Given the description of an element on the screen output the (x, y) to click on. 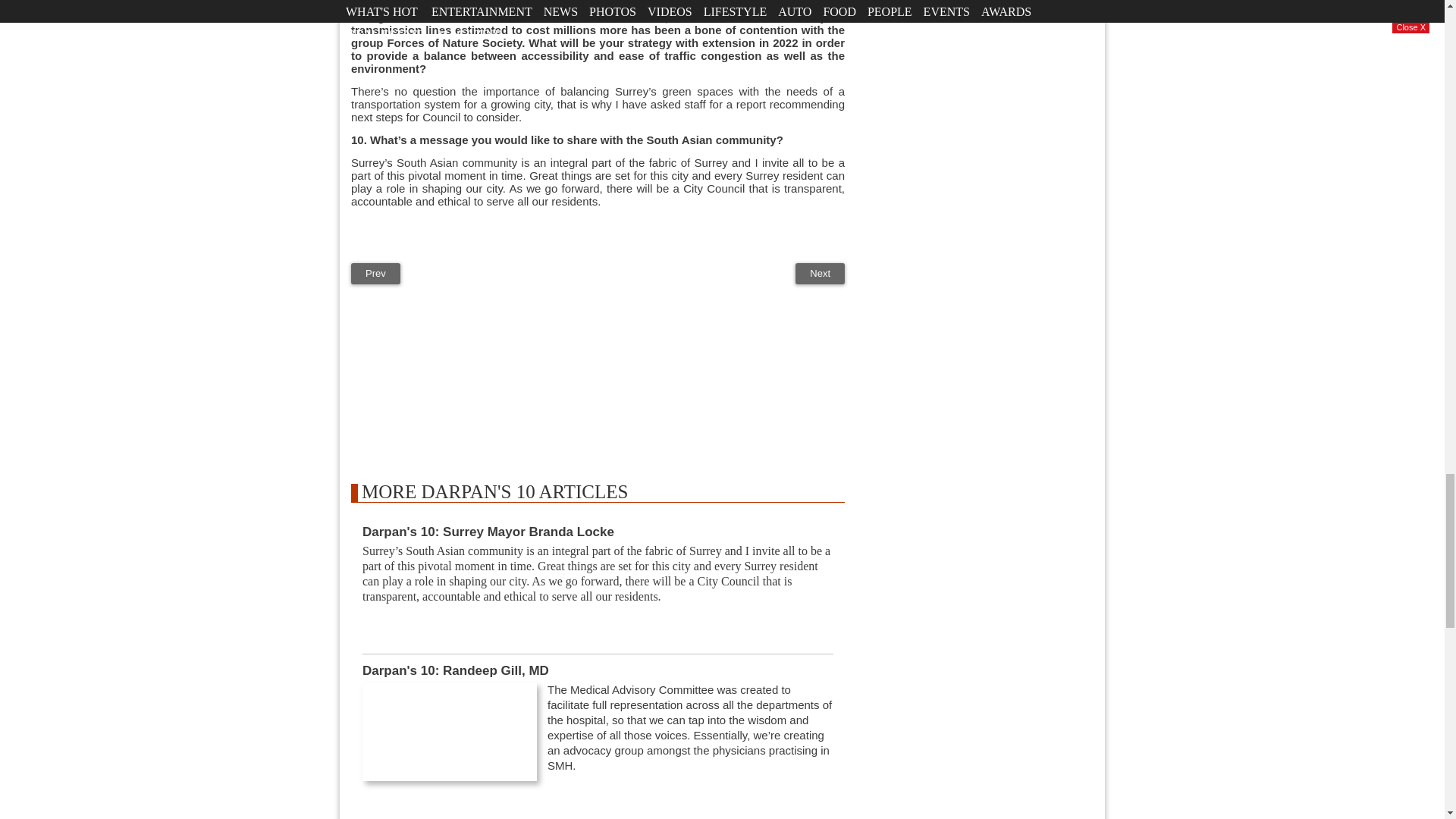
Prev (375, 273)
